Given the description of an element on the screen output the (x, y) to click on. 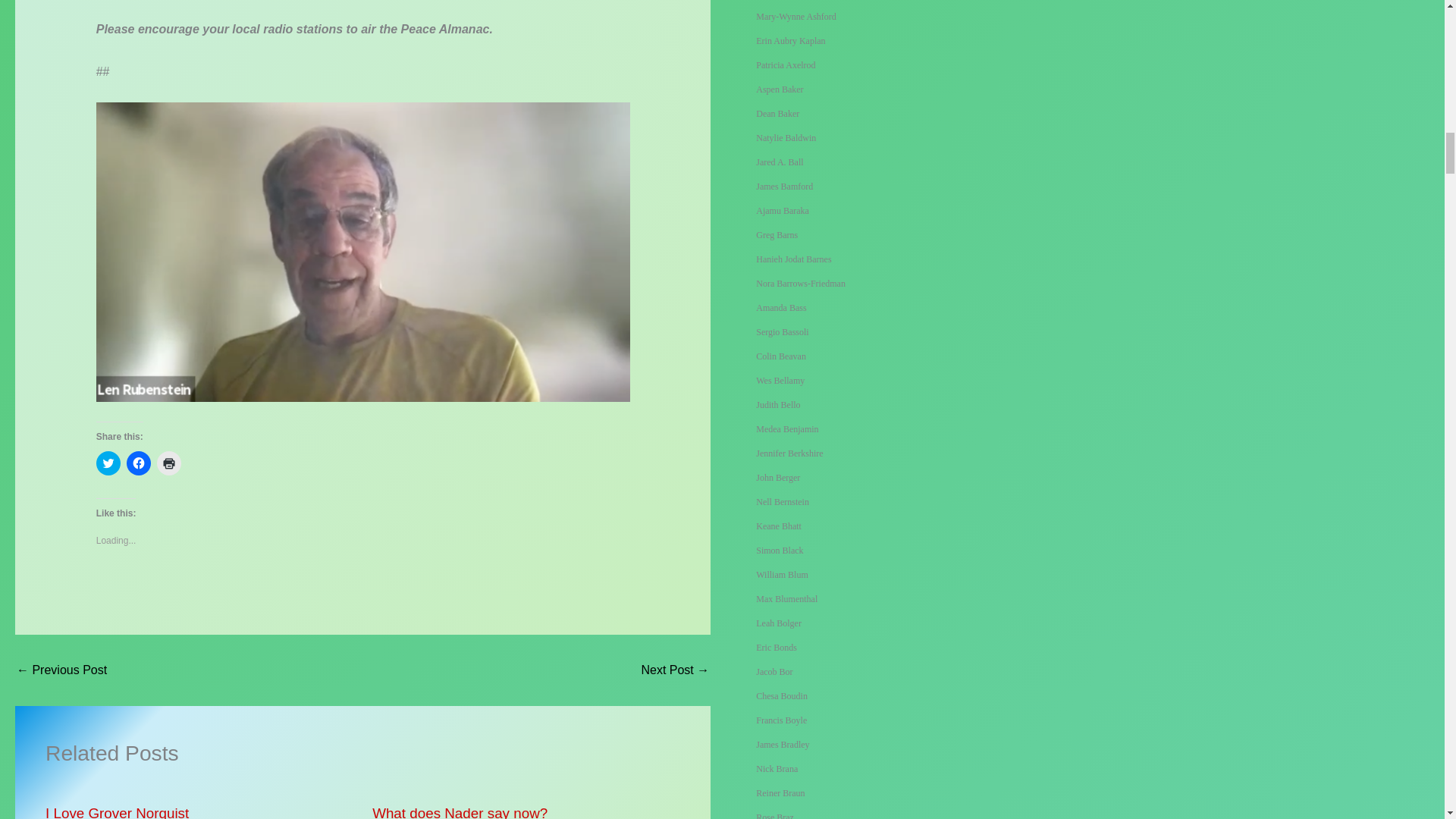
Click to print (168, 463)
Click to share on Twitter (108, 463)
Video: Militaries As Global Health Threat (61, 670)
Click to share on Facebook (138, 463)
AUDIO: Mel Figueroa, Marjorie Cohn, David Swanson (674, 670)
